Given the description of an element on the screen output the (x, y) to click on. 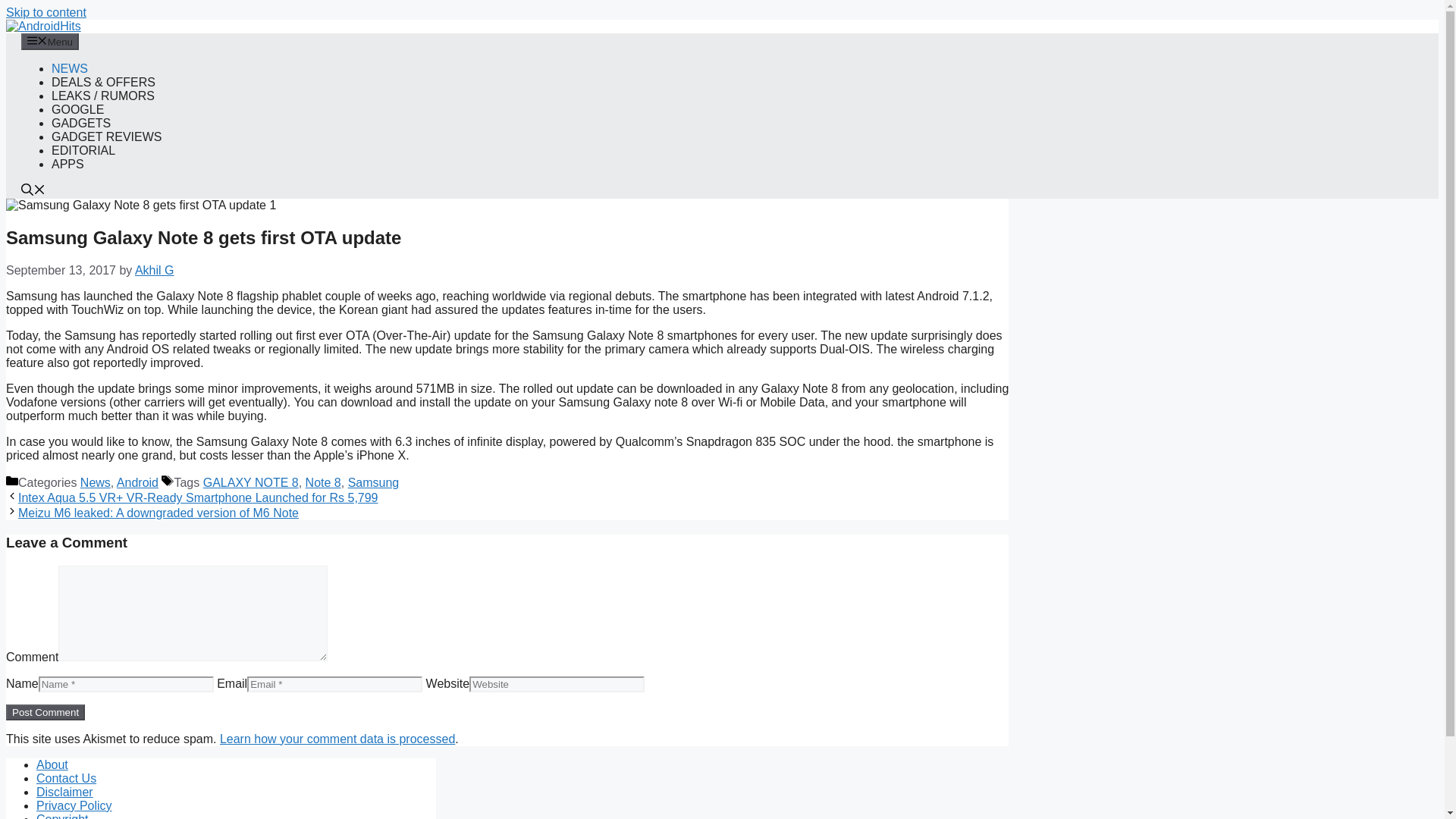
Privacy Policy (74, 805)
Copyright (61, 816)
Android (137, 481)
NEWS (68, 68)
Menu (49, 41)
GADGET REVIEWS (105, 136)
View all posts by Akhil G (154, 269)
Post Comment (44, 712)
Skip to content (45, 11)
APPS (67, 164)
